Given the description of an element on the screen output the (x, y) to click on. 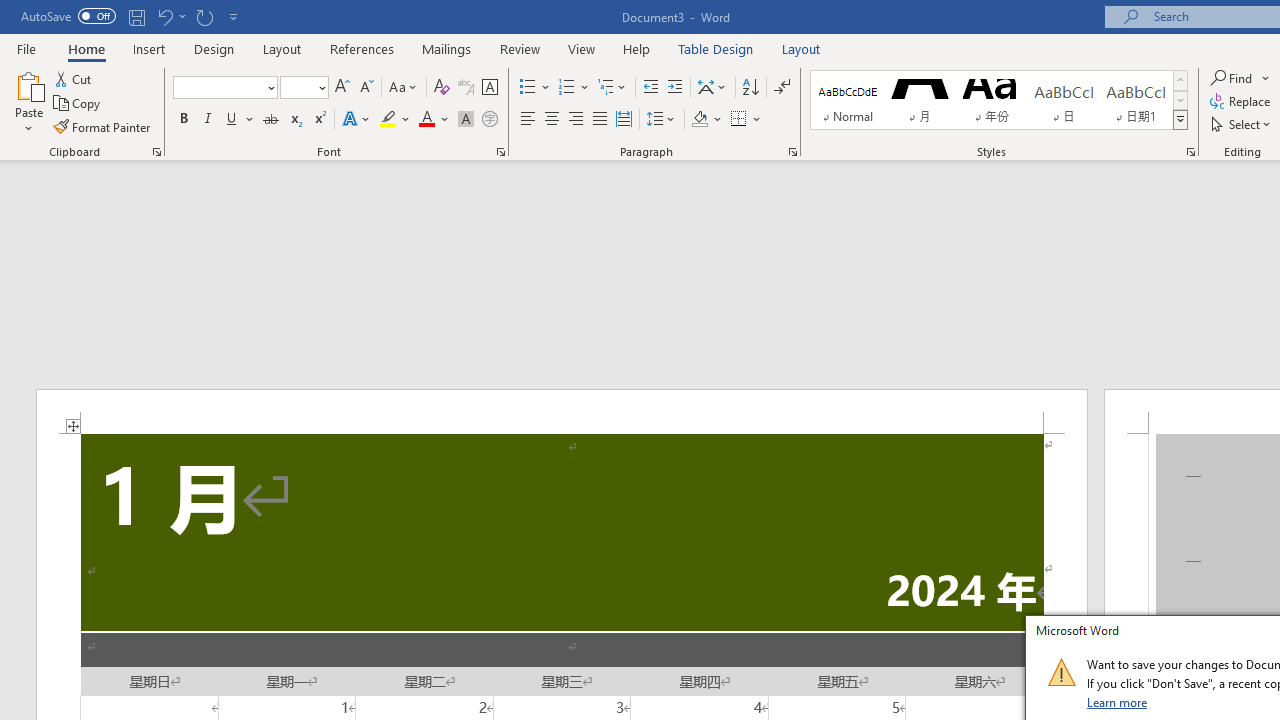
Grow Font (342, 87)
Undo Apply Quick Style (164, 15)
Table Design (715, 48)
Undo Apply Quick Style (170, 15)
Superscript (319, 119)
Character Border (489, 87)
Learn more (1118, 702)
Distributed (623, 119)
Styles... (1190, 151)
Office Clipboard... (156, 151)
Text Effects and Typography (357, 119)
